Given the description of an element on the screen output the (x, y) to click on. 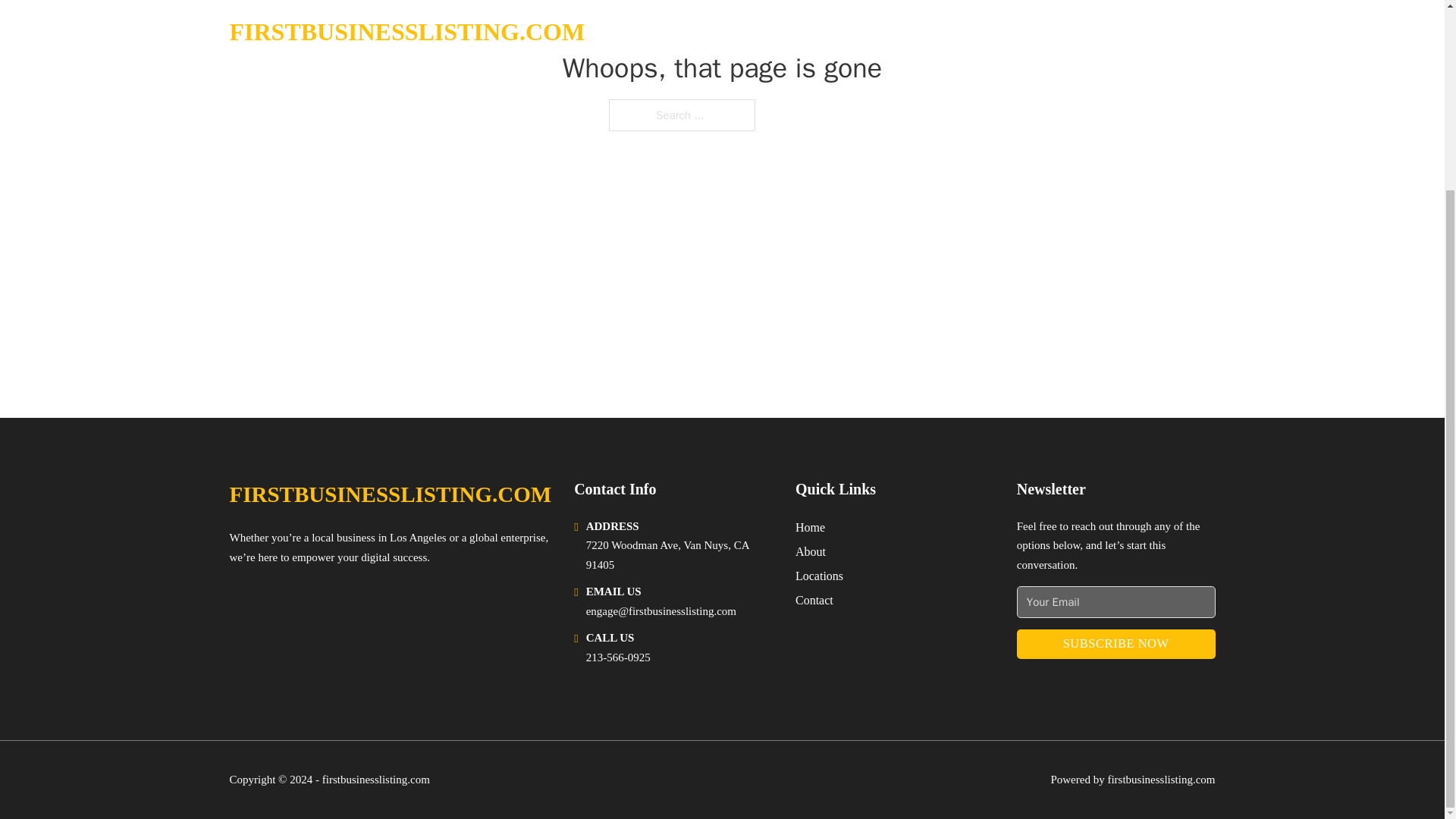
FIRSTBUSINESSLISTING.COM (389, 494)
Contact (813, 599)
Home (809, 526)
SUBSCRIBE NOW (1115, 644)
About (809, 551)
213-566-0925 (618, 657)
Locations (818, 575)
